Given the description of an element on the screen output the (x, y) to click on. 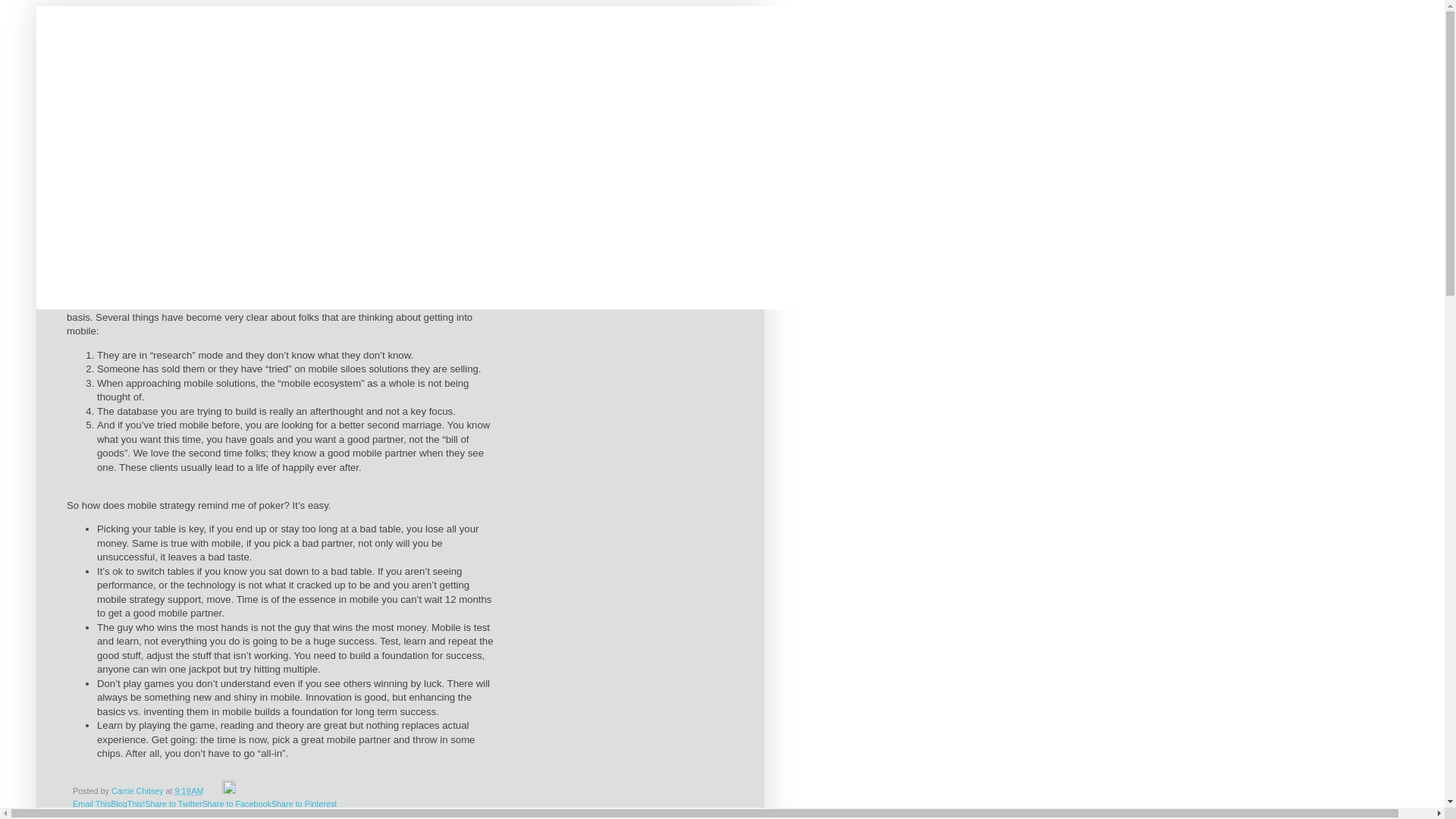
Edit Post Element type: hover (228, 790)
Email Post Element type: hover (214, 790)
Share to Facebook Element type: text (236, 803)
BlogThis! Element type: text (127, 803)
Share to Pinterest Element type: text (303, 803)
Share to Twitter Element type: text (172, 803)
Carrie Chitsey Element type: text (138, 790)
Email This Element type: text (91, 803)
